Given the description of an element on the screen output the (x, y) to click on. 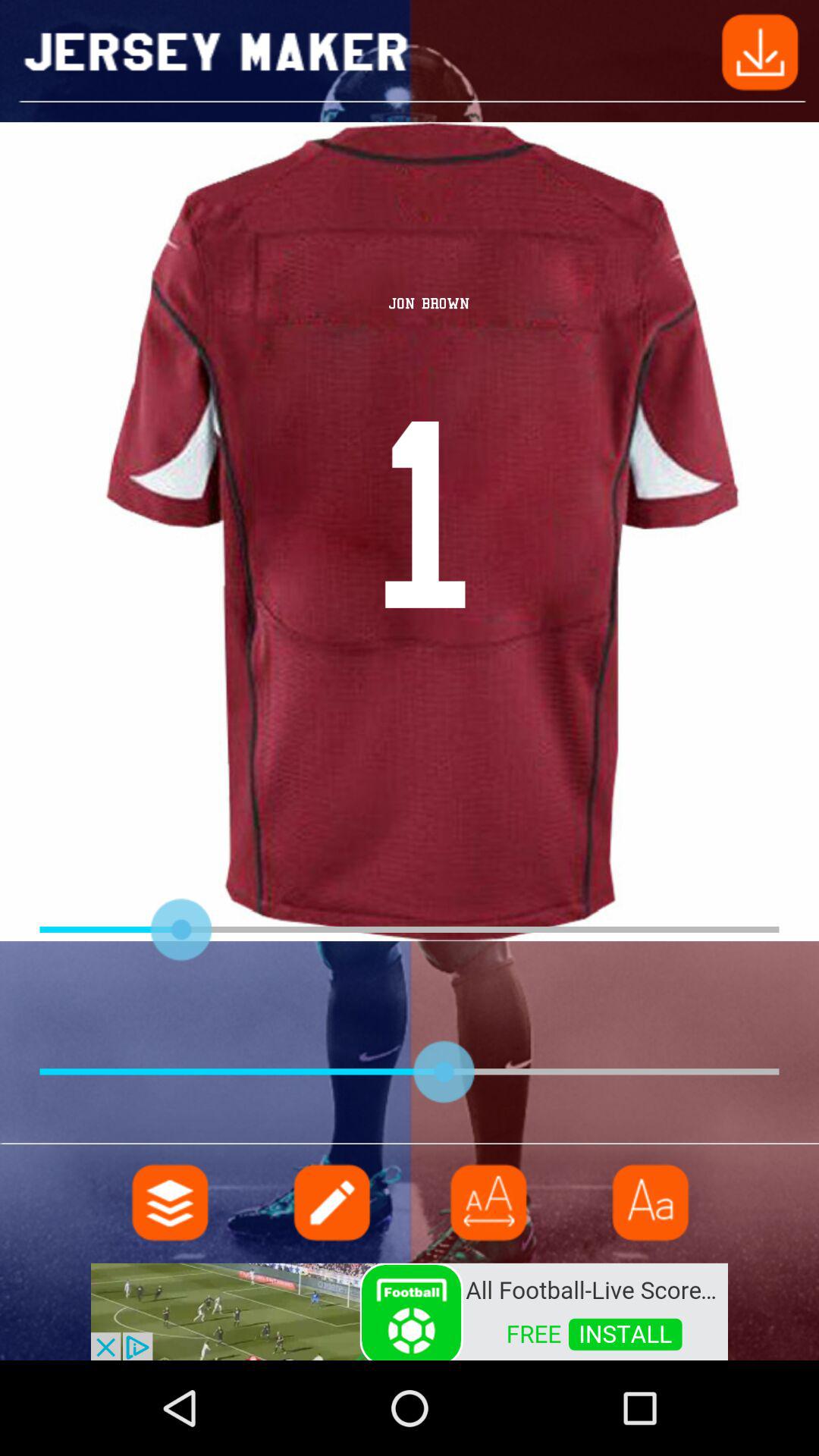
menu page (488, 1202)
